Given the description of an element on the screen output the (x, y) to click on. 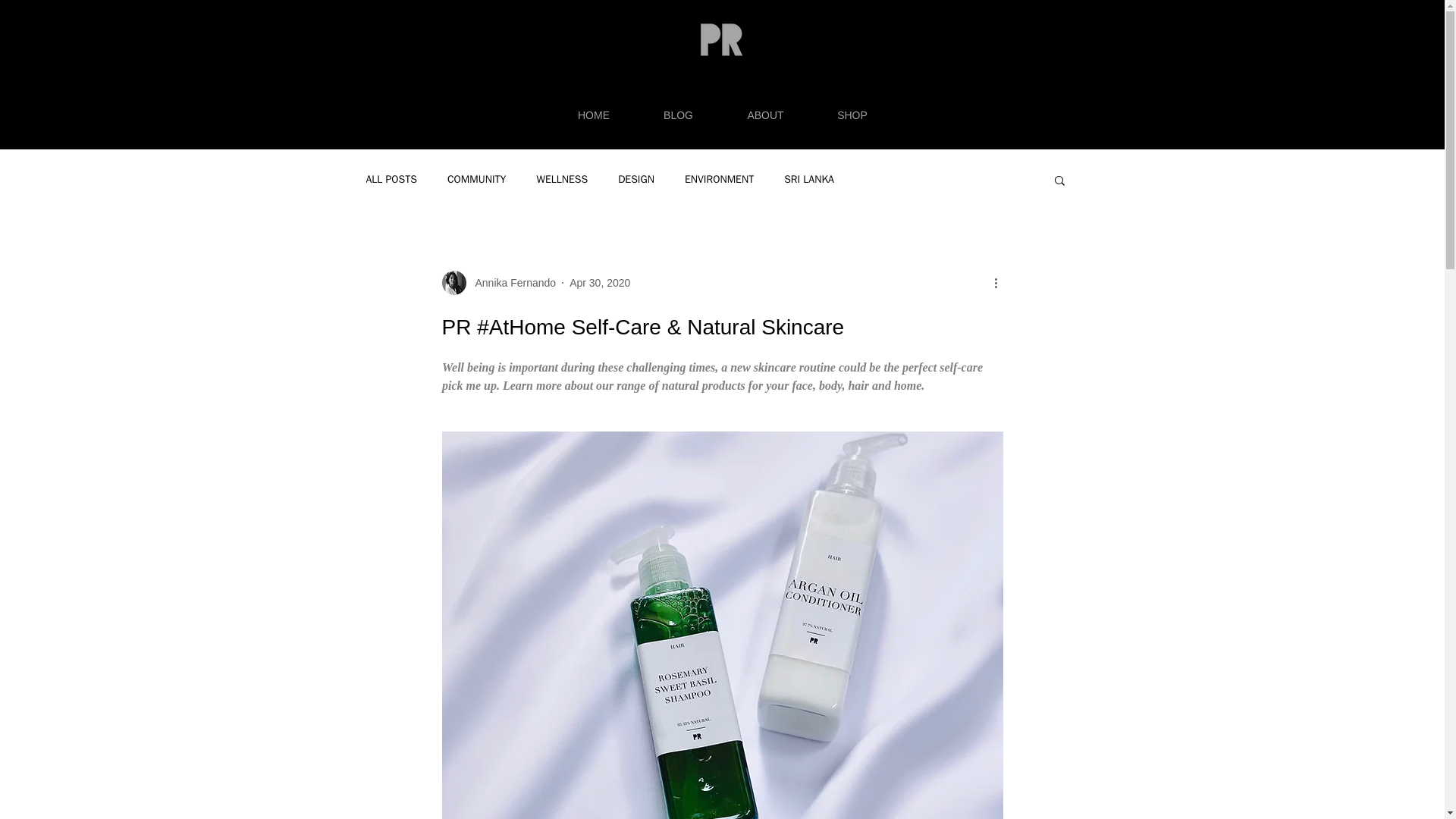
HOME (593, 115)
SRI LANKA (809, 179)
ENVIRONMENT (719, 179)
BLOG (678, 115)
Apr 30, 2020 (599, 282)
COMMUNITY (476, 179)
ABOUT (765, 115)
DESIGN (635, 179)
Annika Fernando (510, 282)
SHOP (851, 115)
